Given the description of an element on the screen output the (x, y) to click on. 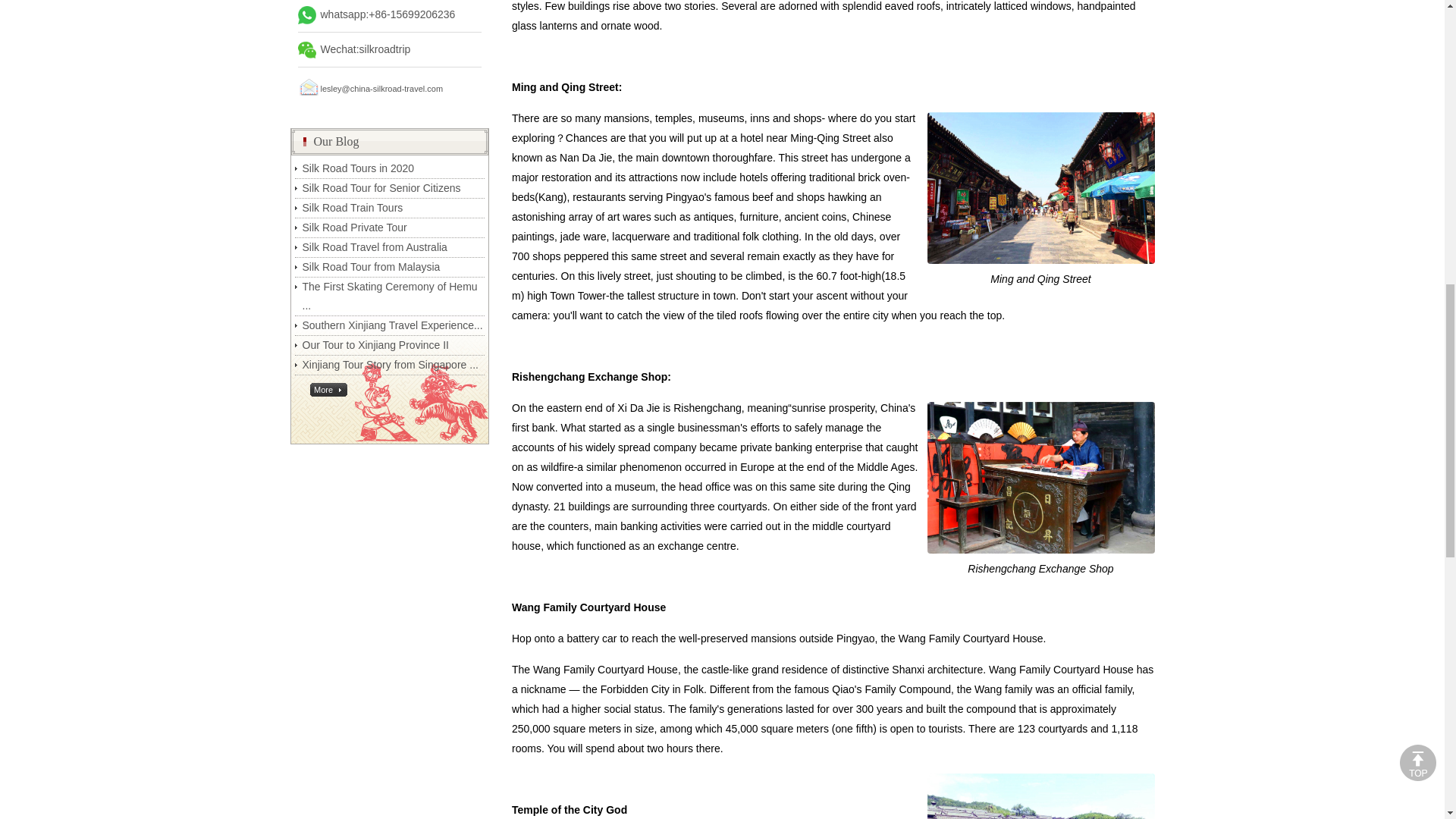
wang-1.jpg (1040, 796)
rishengchang.jpg (1040, 477)
ming and qing street.jpg (1040, 187)
